Given the description of an element on the screen output the (x, y) to click on. 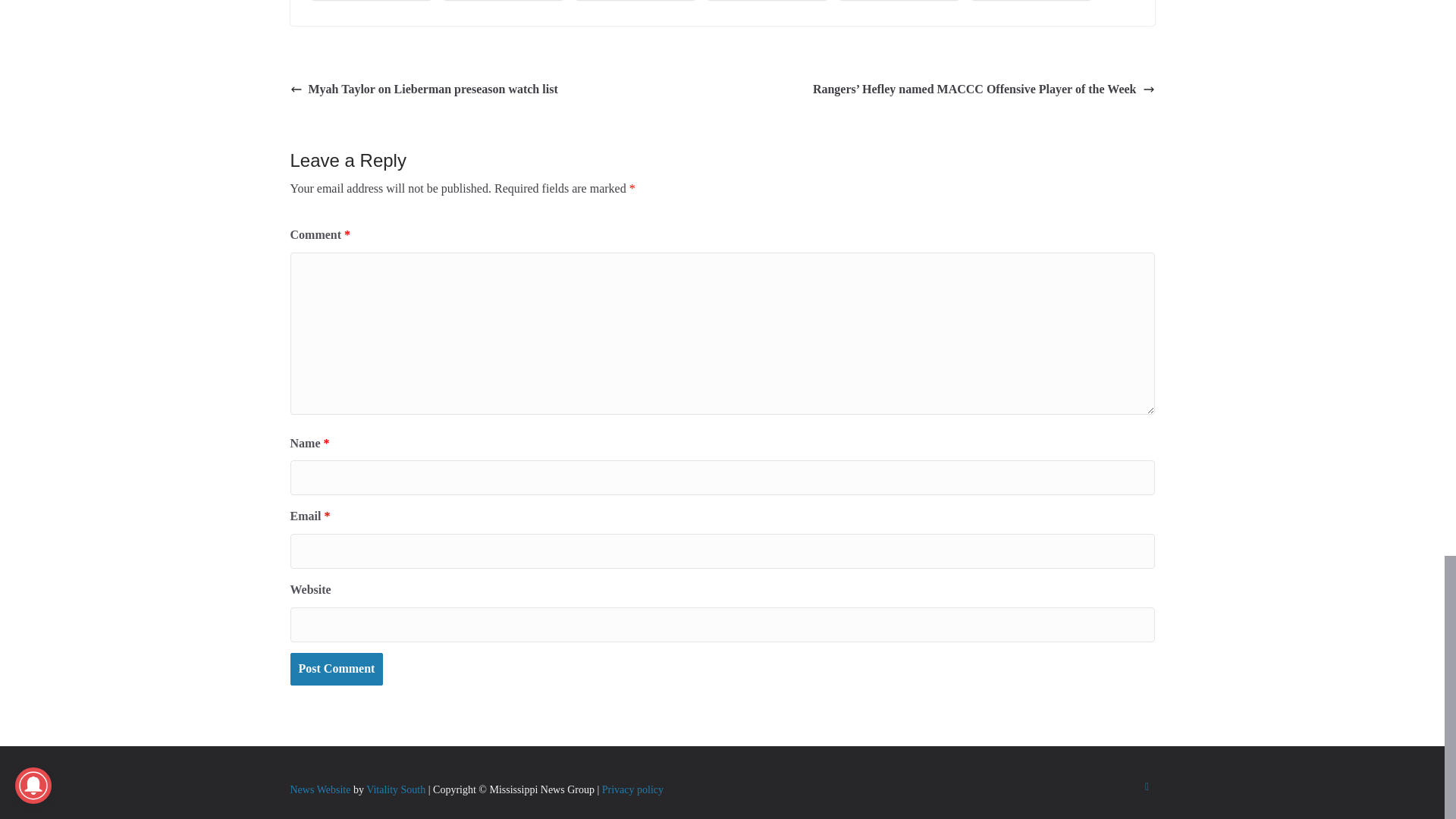
Post Comment (335, 668)
